Given the description of an element on the screen output the (x, y) to click on. 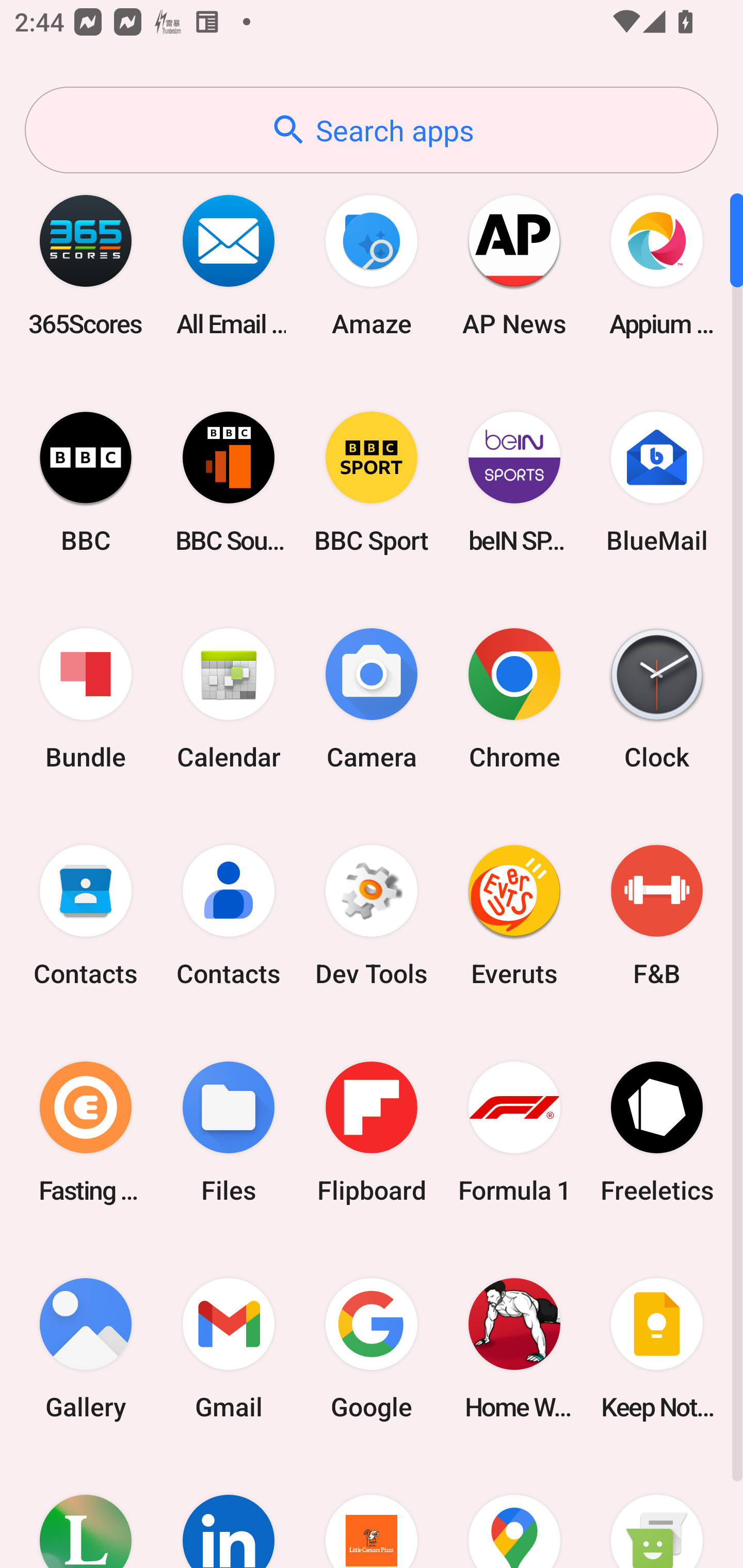
  Search apps (371, 130)
365Scores (85, 264)
All Email Connect (228, 264)
Amaze (371, 264)
AP News (514, 264)
Appium Settings (656, 264)
BBC (85, 482)
BBC Sounds (228, 482)
BBC Sport (371, 482)
beIN SPORTS (514, 482)
BlueMail (656, 482)
Bundle (85, 699)
Calendar (228, 699)
Camera (371, 699)
Chrome (514, 699)
Clock (656, 699)
Contacts (85, 915)
Contacts (228, 915)
Dev Tools (371, 915)
Everuts (514, 915)
F&B (656, 915)
Fasting Coach (85, 1131)
Files (228, 1131)
Flipboard (371, 1131)
Formula 1 (514, 1131)
Freeletics (656, 1131)
Gallery (85, 1348)
Gmail (228, 1348)
Google (371, 1348)
Home Workout (514, 1348)
Keep Notes (656, 1348)
